Given the description of an element on the screen output the (x, y) to click on. 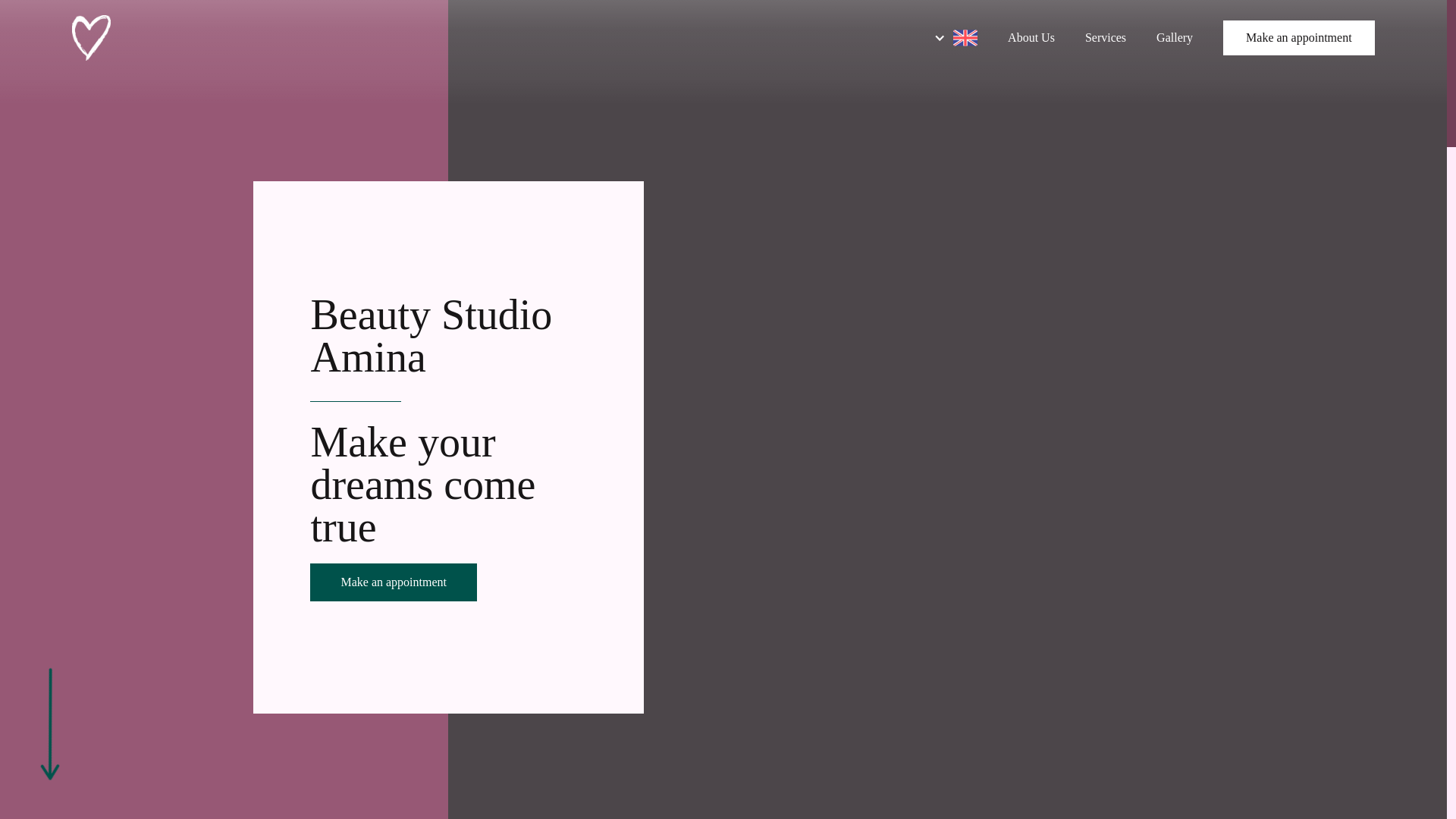
About Us (1031, 37)
Services (1105, 37)
Make an appointment (393, 581)
Make an appointment (1298, 37)
Gallery (1174, 37)
